Given the description of an element on the screen output the (x, y) to click on. 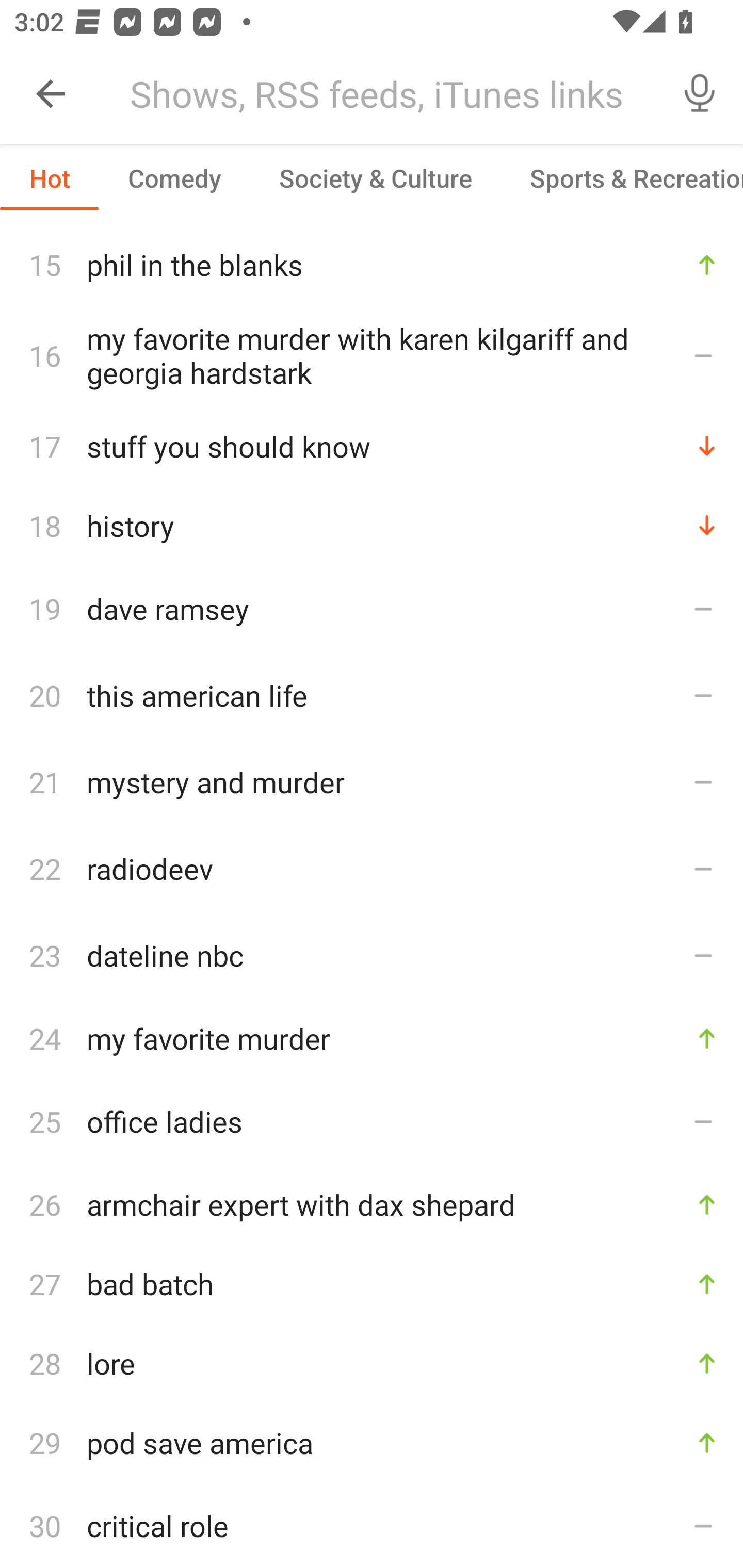
Collapse (50, 93)
Voice Search (699, 93)
Shows, RSS feeds, iTunes links (385, 94)
Hot (49, 177)
Comedy (173, 177)
Society & Culture (374, 177)
Sports & Recreation (621, 177)
15 phil in the blanks (371, 264)
17 stuff you should know (371, 446)
18 history (371, 526)
19 dave ramsey (371, 609)
20 this american life (371, 695)
21 mystery and murder (371, 781)
22 radiodeev (371, 868)
23 dateline nbc (371, 955)
24 my favorite murder (371, 1038)
25 office ladies (371, 1121)
26 armchair expert with dax shepard (371, 1204)
27 bad batch (371, 1283)
28 lore (371, 1363)
29 pod save america (371, 1442)
30 critical role (371, 1524)
